Given the description of an element on the screen output the (x, y) to click on. 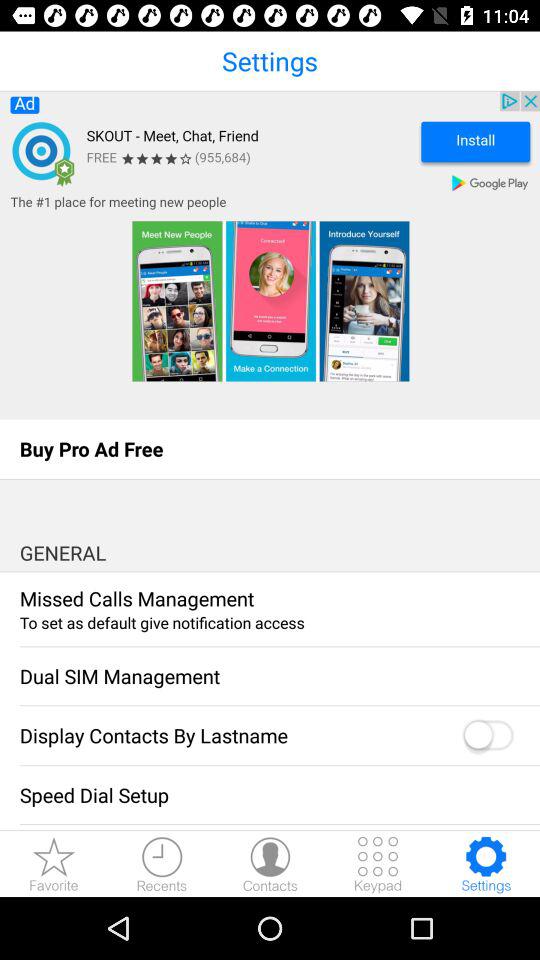
go to icons (377, 864)
